Given the description of an element on the screen output the (x, y) to click on. 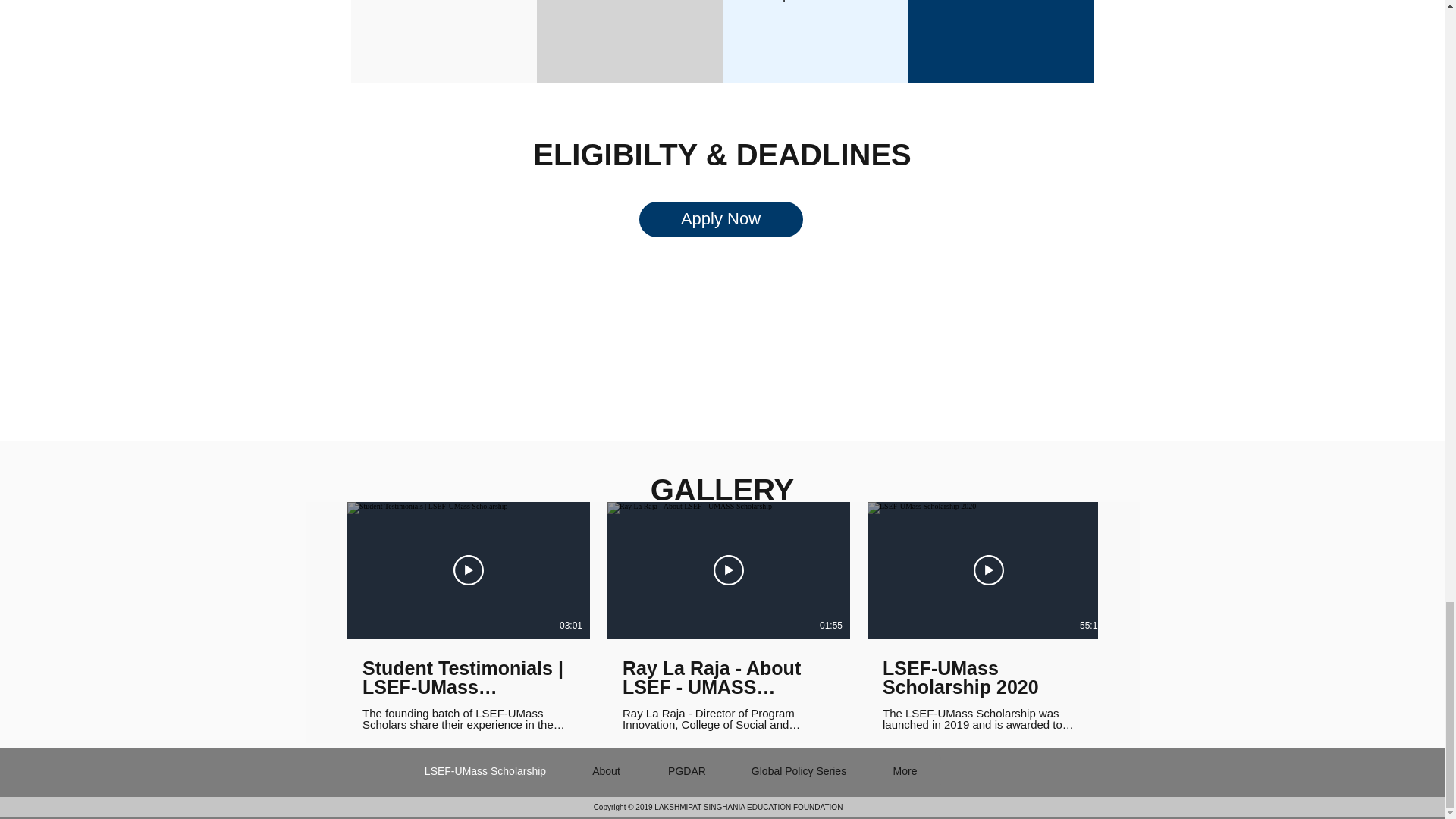
LSEF-UMass Scholarship (484, 771)
PGDAR (686, 771)
About (606, 771)
LSEF-UMass Scholarship 2020 (988, 677)
Ray La Raja - About LSEF - UMASS Scholarship (727, 677)
Global Policy Series (797, 771)
